Given the description of an element on the screen output the (x, y) to click on. 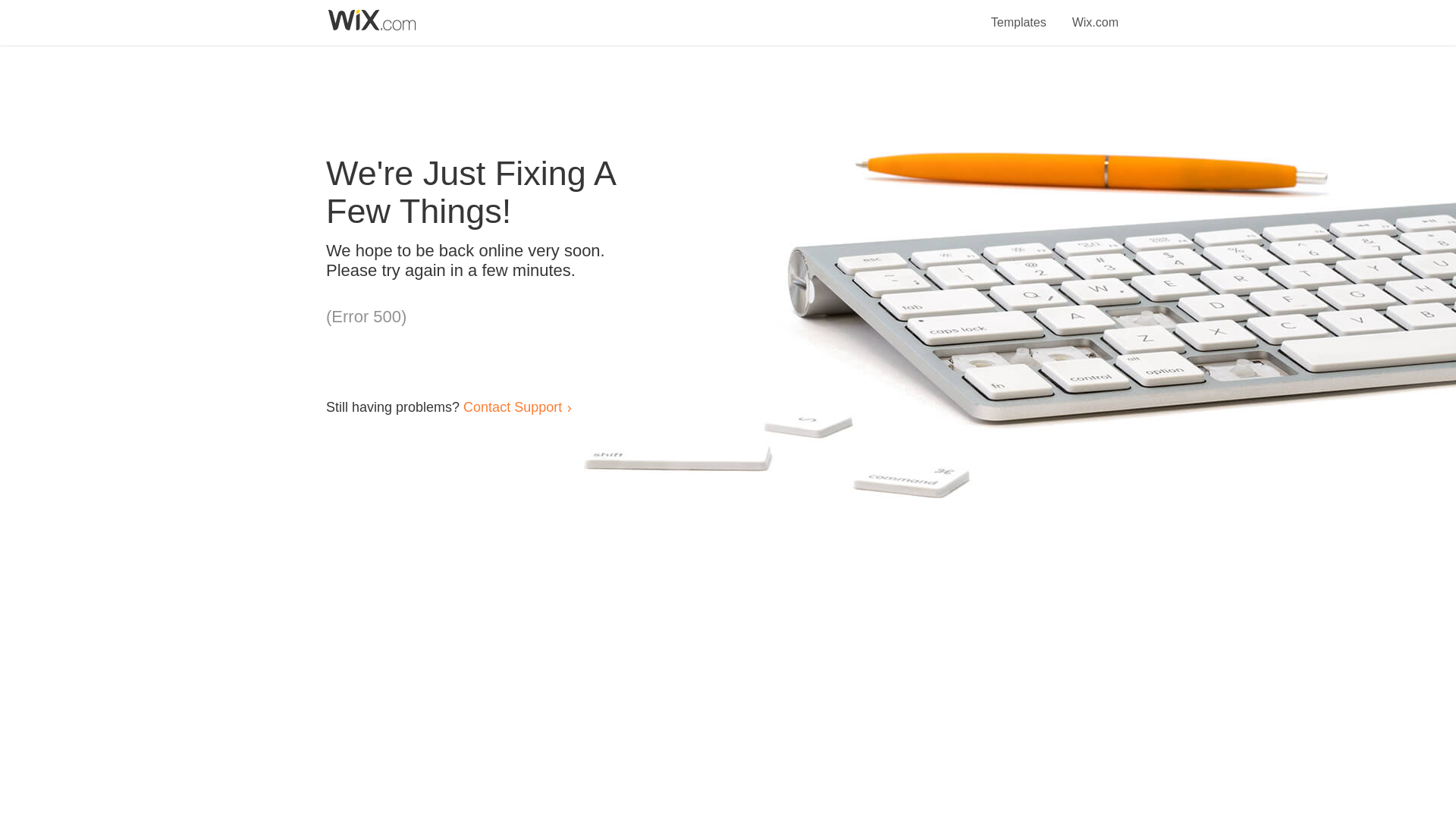
Wix.com (1095, 14)
Templates (1018, 14)
Contact Support (512, 406)
